Given the description of an element on the screen output the (x, y) to click on. 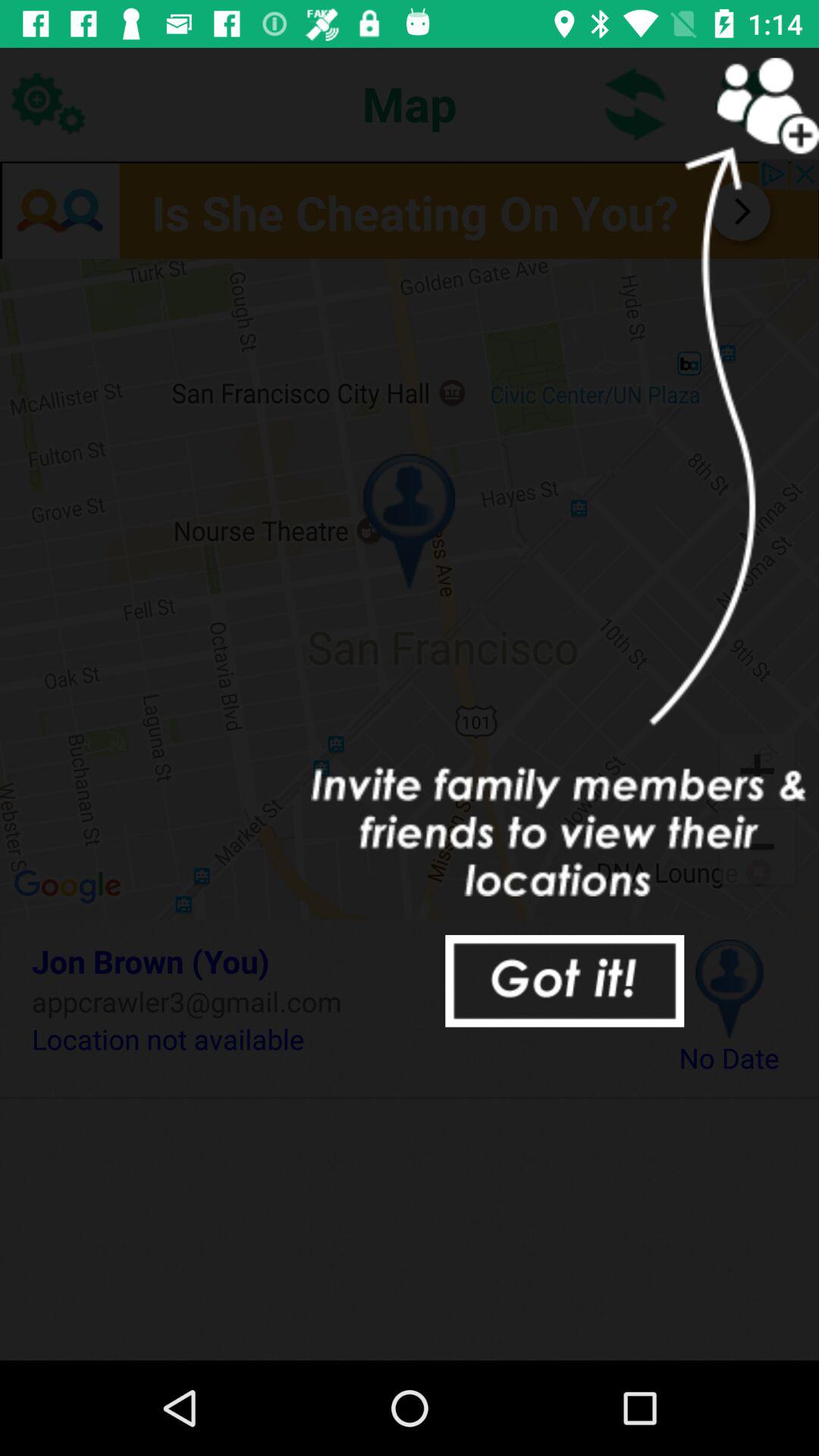
close help notification (564, 980)
